Given the description of an element on the screen output the (x, y) to click on. 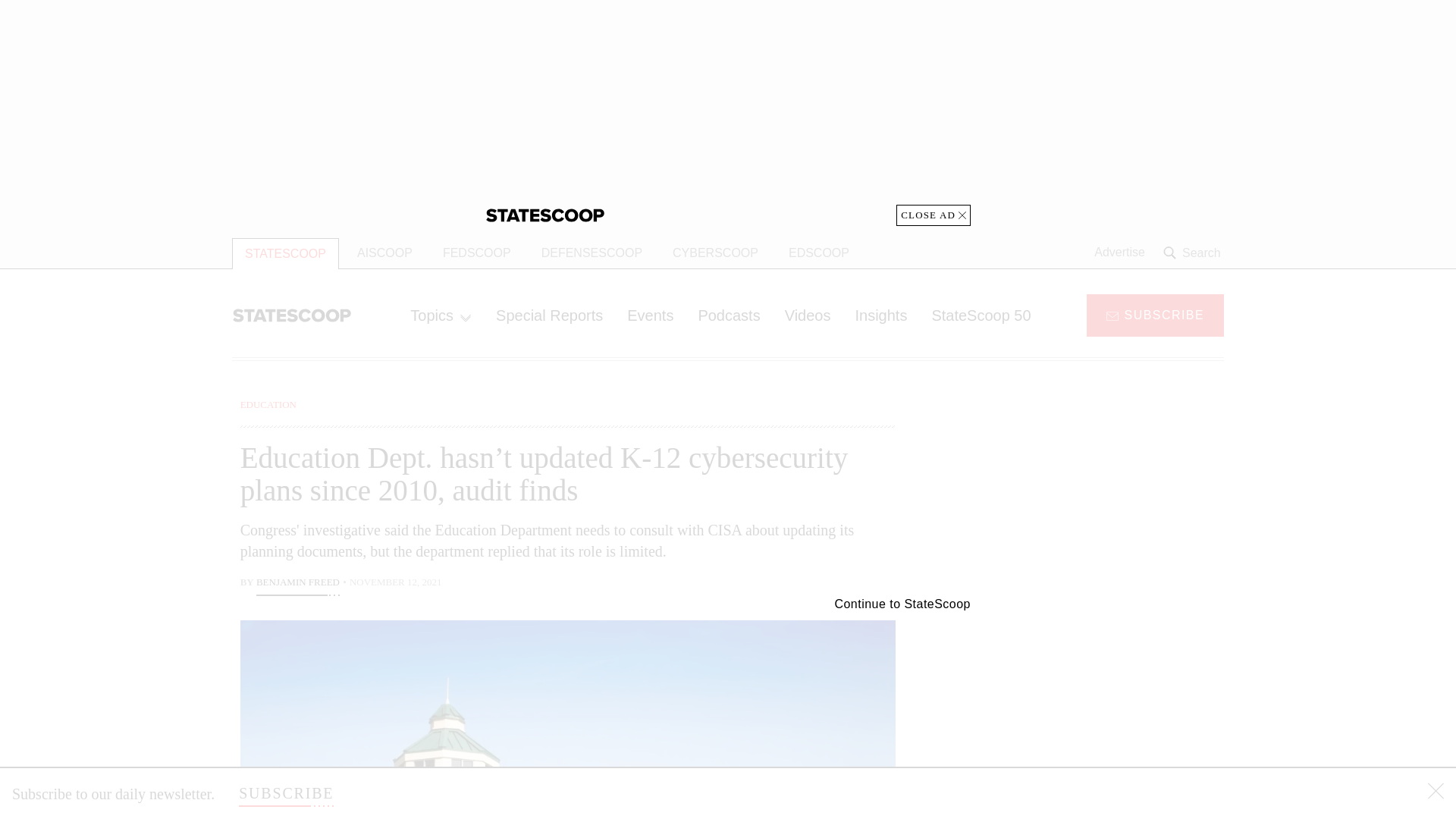
EDUCATION (268, 404)
StateScoop 50 (980, 315)
CLOSE (1436, 793)
DEFENSESCOOP (591, 253)
FEDSCOOP (476, 253)
BENJAMIN FREED (297, 583)
AISCOOP (385, 253)
3rd party ad content (727, 112)
CYBERSCOOP (715, 253)
3rd party ad content (1101, 492)
Insights (880, 315)
Advertise (1119, 252)
EDSCOOP (818, 253)
3rd party ad content (1101, 705)
